Given the description of an element on the screen output the (x, y) to click on. 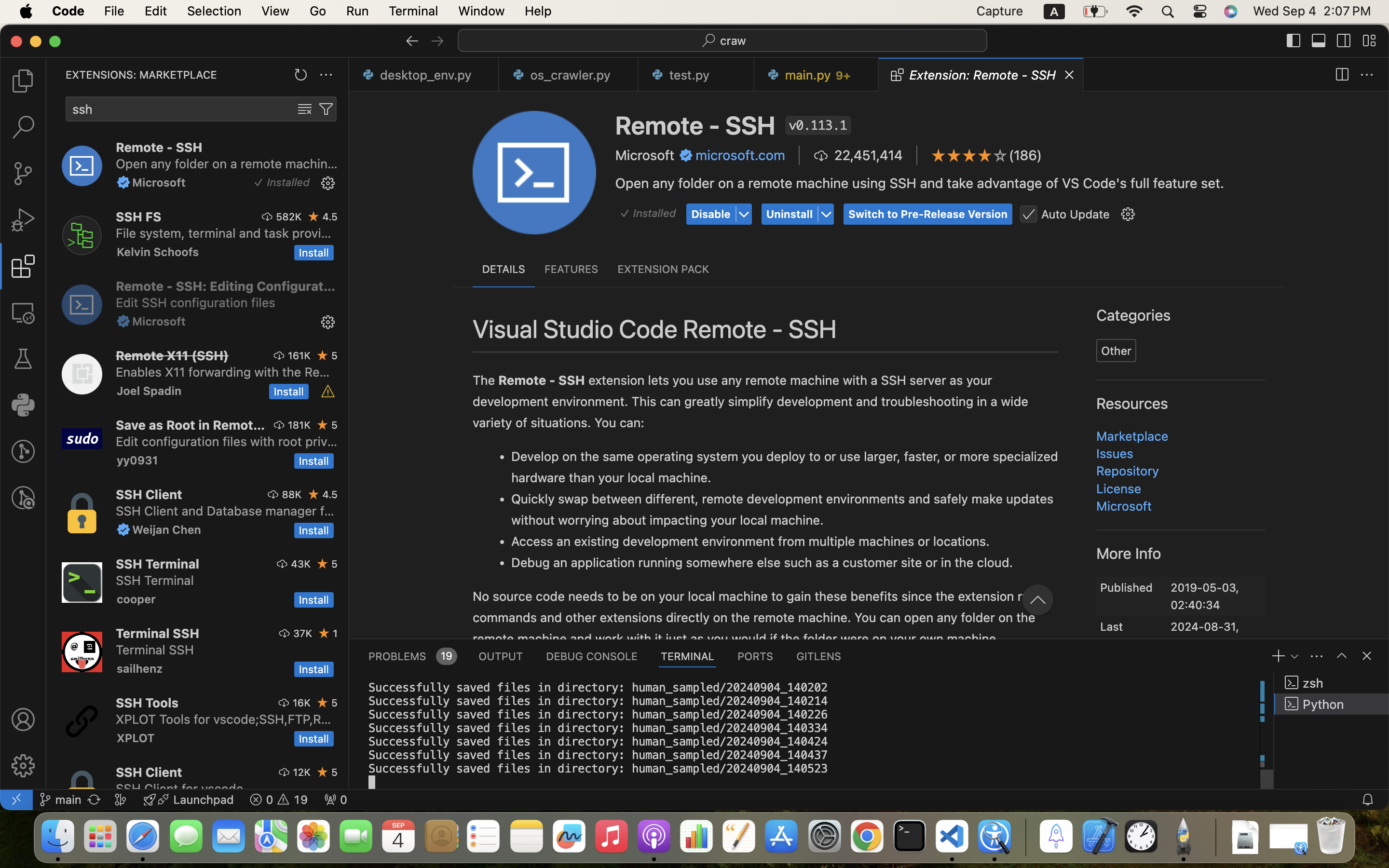
 Element type: AXStaticText (686, 154)
main  Element type: AXButton (59, 799)
0 Element type: AXRadioButton (23, 312)
 Element type: AXStaticText (327, 391)
19  0  Element type: AXButton (278, 799)
